Given the description of an element on the screen output the (x, y) to click on. 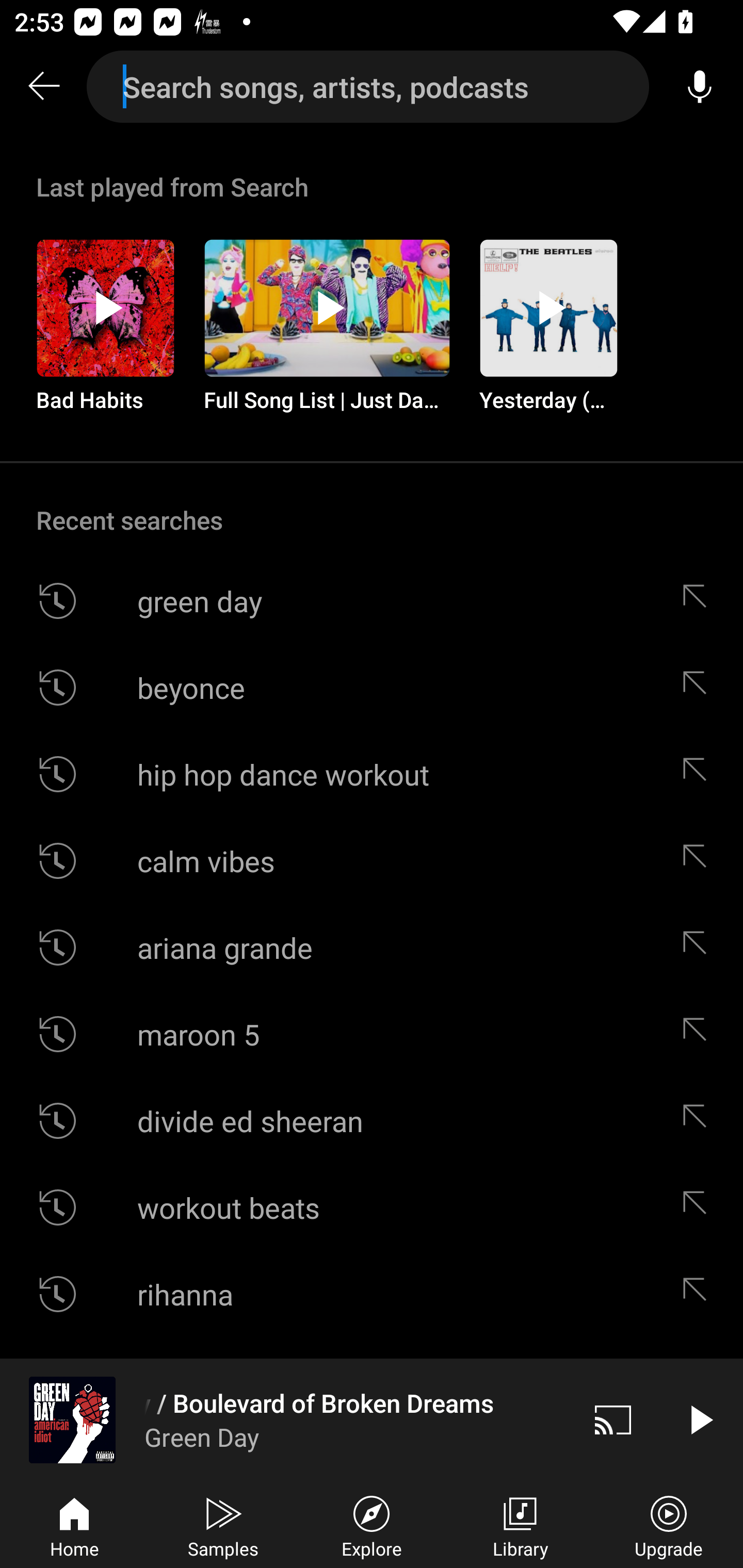
Search back (43, 86)
Search songs, artists, podcasts (367, 86)
Voice search (699, 86)
green day Edit suggestion green day (371, 601)
Edit suggestion green day (699, 601)
beyonce Edit suggestion beyonce (371, 687)
Edit suggestion beyonce (699, 687)
Edit suggestion hip hop dance workout (699, 773)
calm vibes Edit suggestion calm vibes (371, 860)
Edit suggestion calm vibes (699, 860)
ariana grande Edit suggestion ariana grande (371, 947)
Edit suggestion ariana grande (699, 947)
maroon 5 Edit suggestion maroon 5 (371, 1033)
Edit suggestion maroon 5 (699, 1033)
Edit suggestion divide ed sheeran (699, 1120)
workout beats Edit suggestion workout beats (371, 1207)
Edit suggestion workout beats (699, 1207)
rihanna Edit suggestion rihanna (371, 1294)
Edit suggestion rihanna (699, 1294)
Holiday / Boulevard of Broken Dreams Green Day (284, 1419)
Cast. Disconnected (612, 1419)
Play video (699, 1419)
Home (74, 1524)
Samples (222, 1524)
Explore (371, 1524)
Library (519, 1524)
Upgrade (668, 1524)
